Given the description of an element on the screen output the (x, y) to click on. 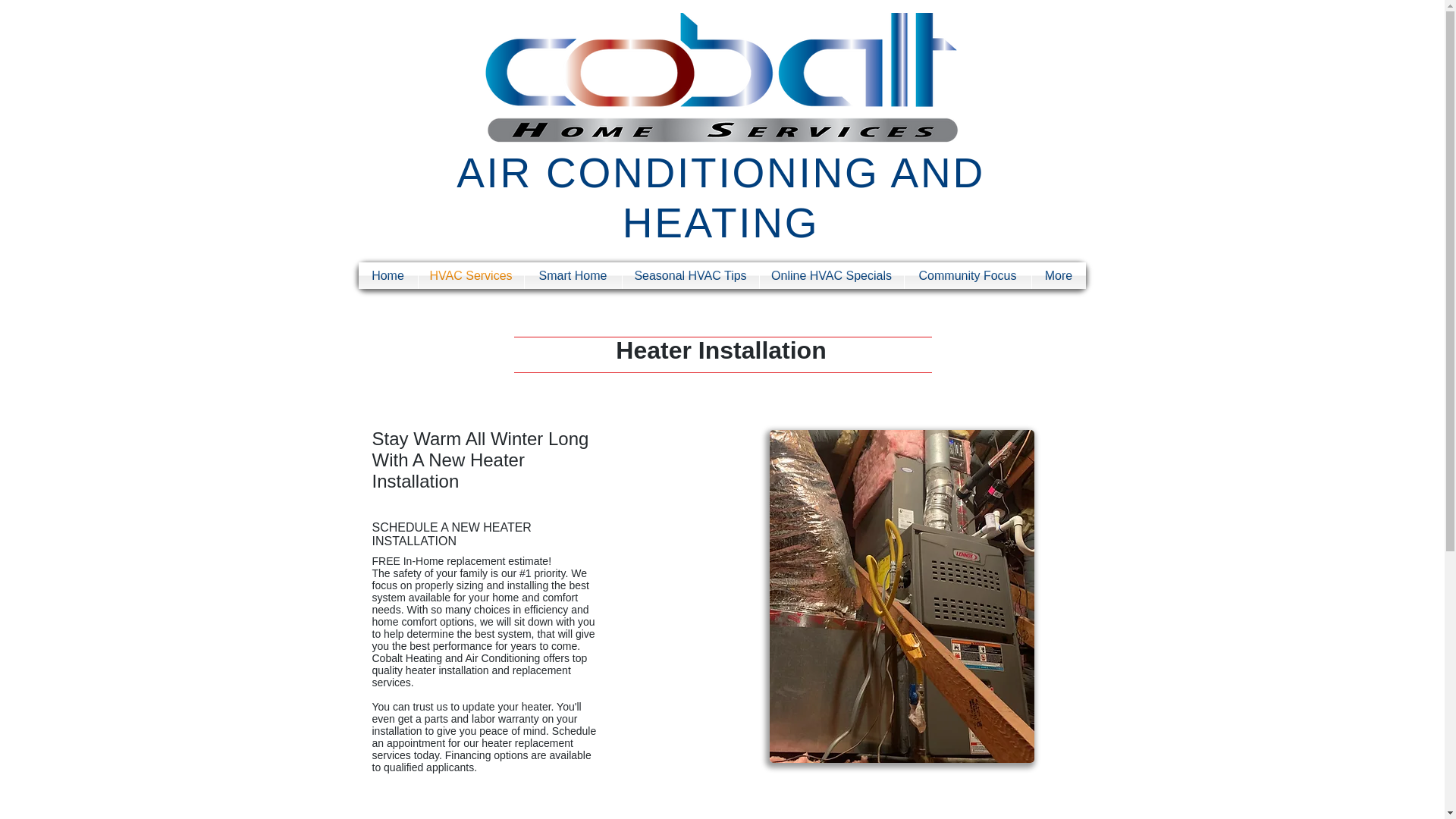
Smart Home (572, 275)
Online HVAC Specials (832, 275)
Community Focus (967, 275)
HVAC Services (471, 275)
Home (387, 275)
Seasonal HVAC Tips (689, 275)
